Given the description of an element on the screen output the (x, y) to click on. 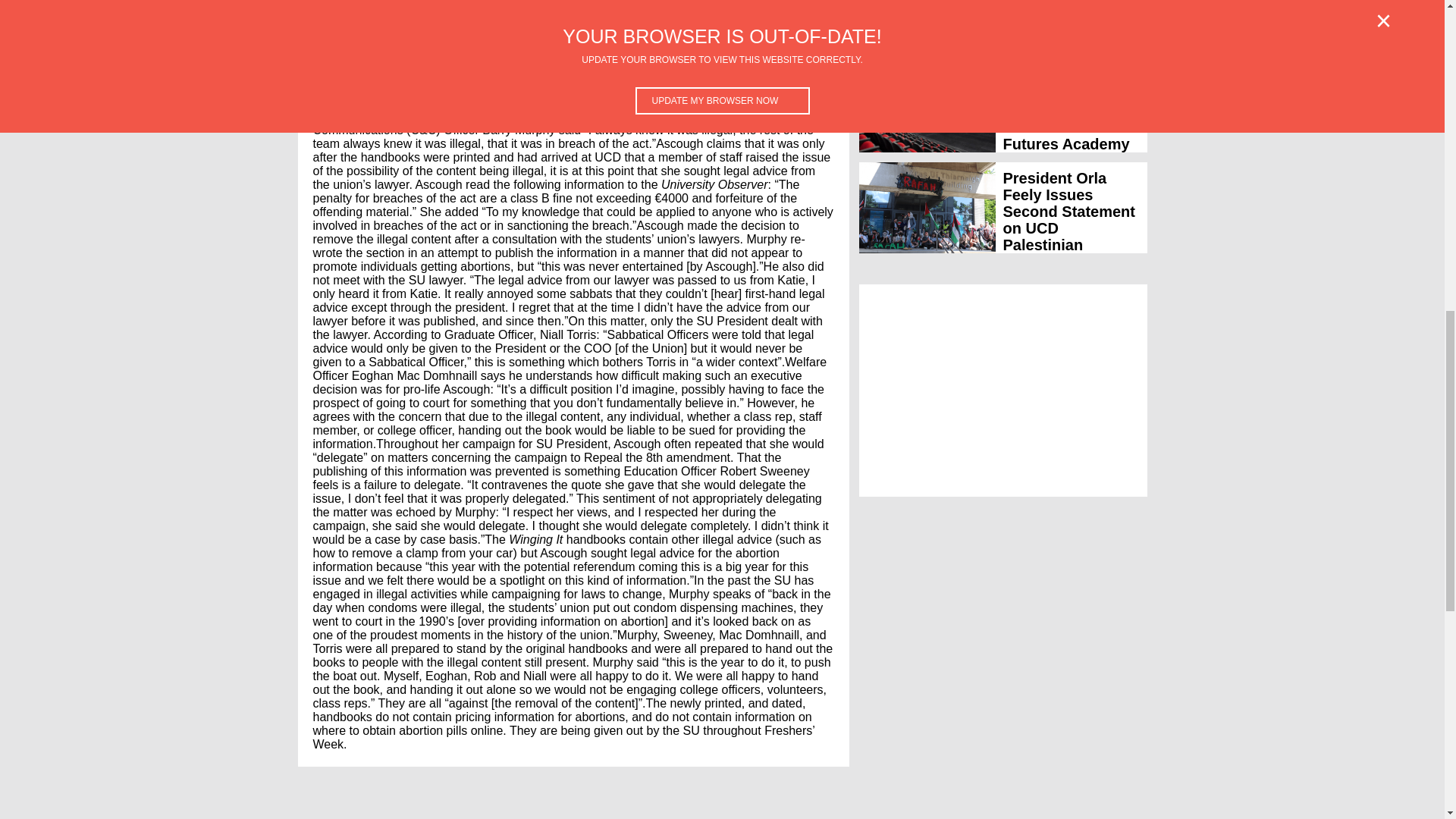
Advertisement (455, 811)
Advertisement (1003, 390)
